Given the description of an element on the screen output the (x, y) to click on. 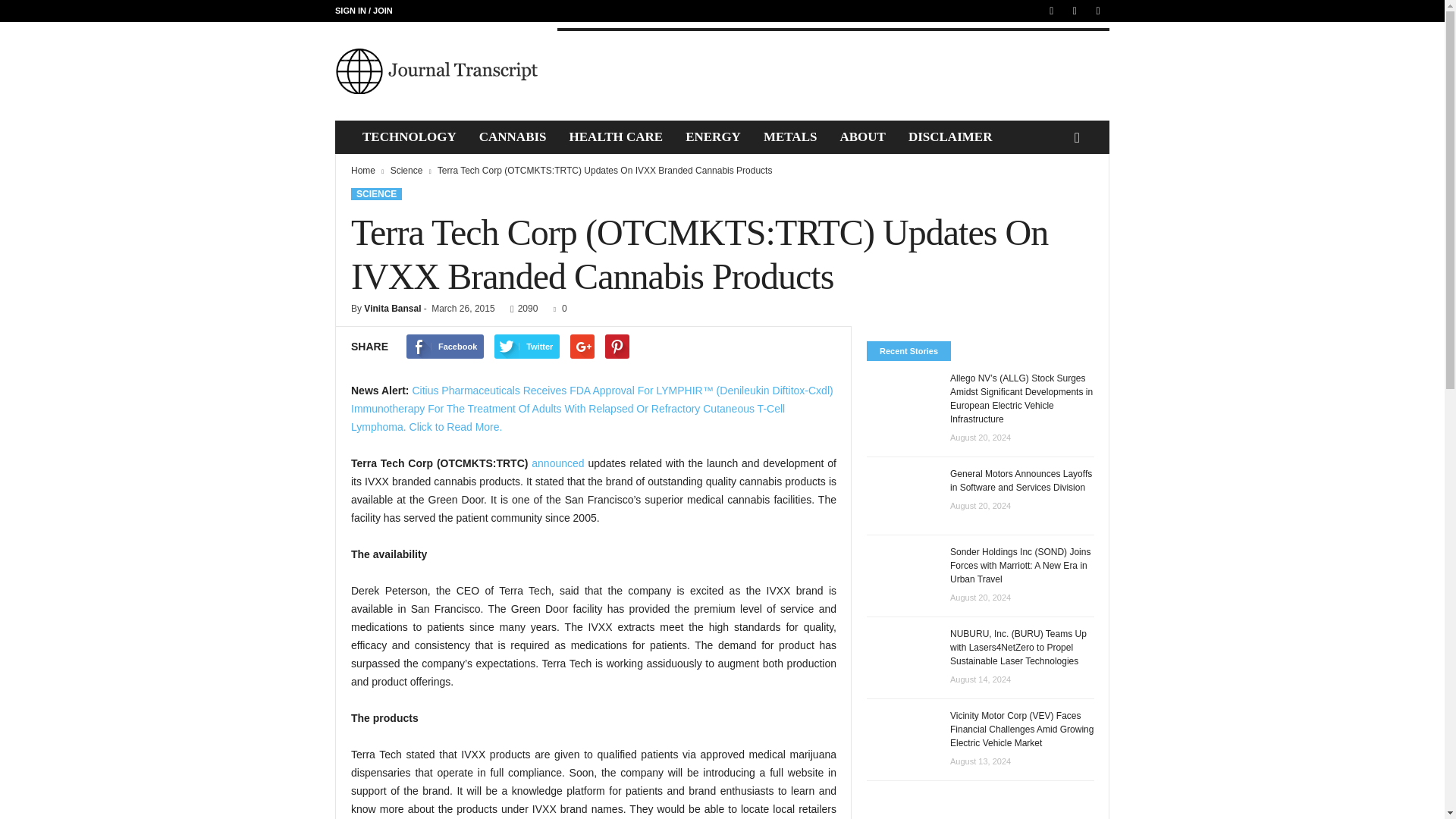
TECHNOLOGY (408, 136)
HEALTH CARE (616, 136)
View all posts in Science (407, 170)
ENERGY (713, 136)
ABOUT (862, 136)
Journal Transcript (437, 70)
METALS (790, 136)
DISCLAIMER (950, 136)
CANNABIS (512, 136)
